Given the description of an element on the screen output the (x, y) to click on. 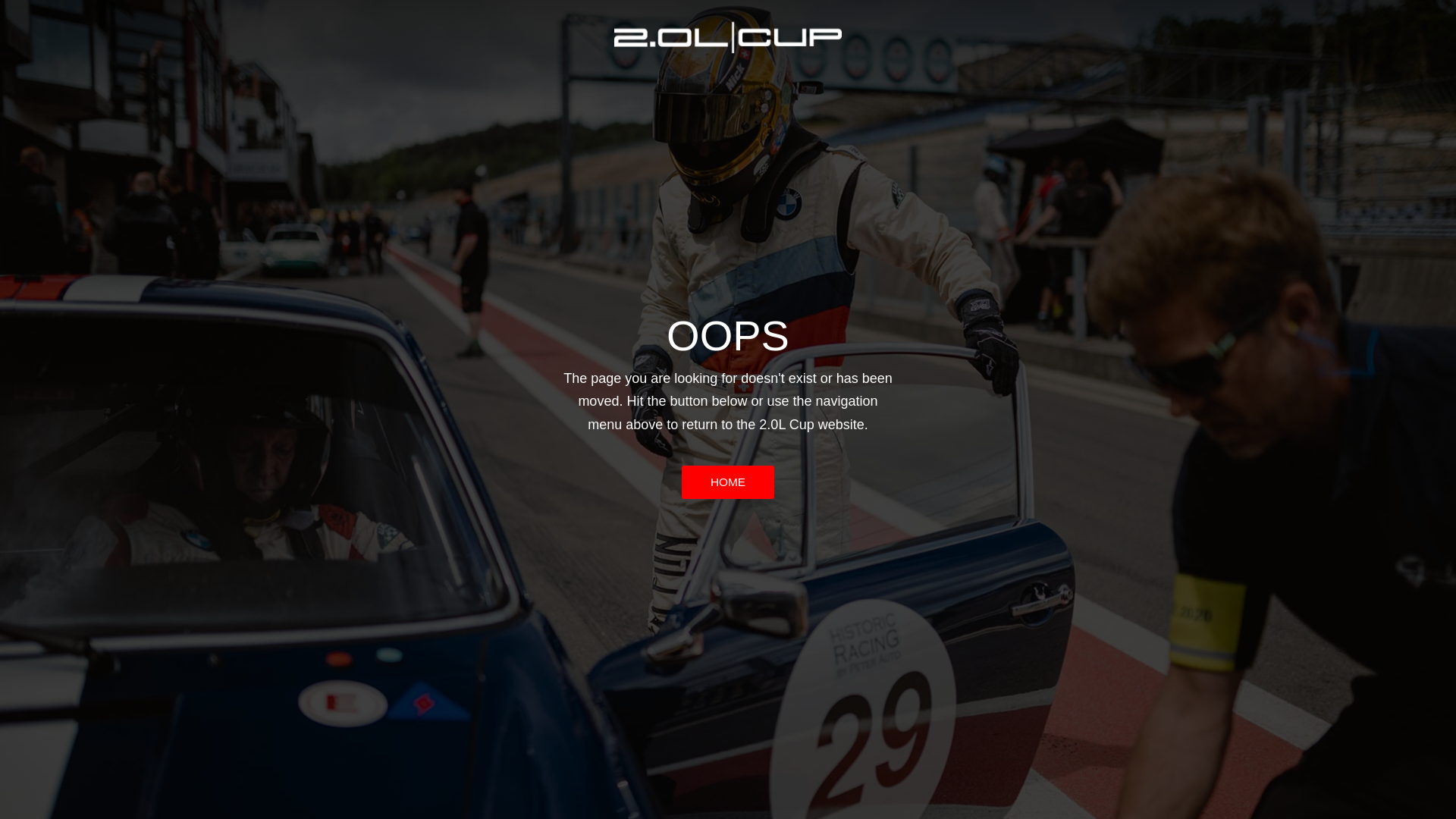
HOME Element type: text (727, 481)
